Given the description of an element on the screen output the (x, y) to click on. 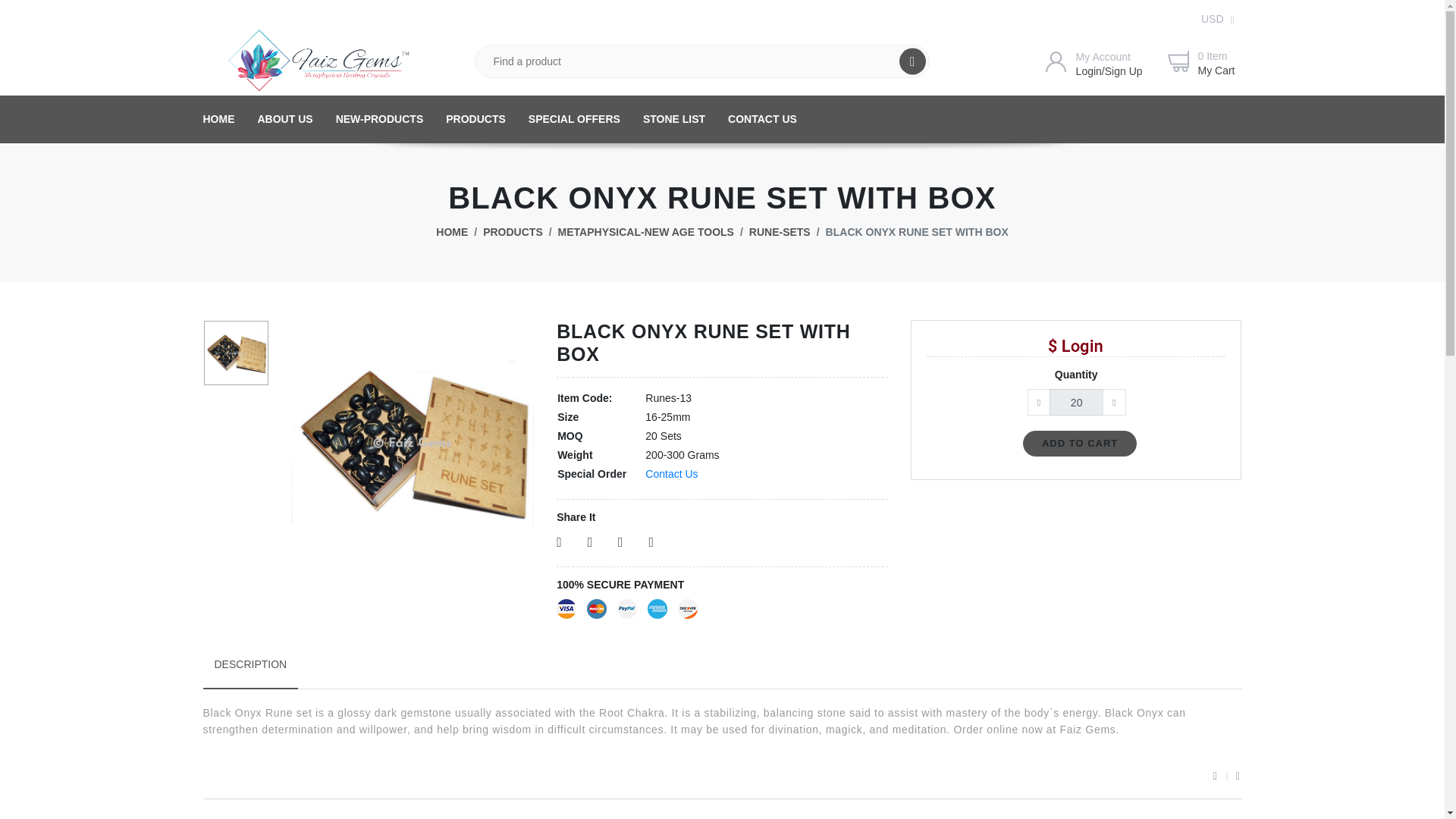
20 (1075, 402)
